Given the description of an element on the screen output the (x, y) to click on. 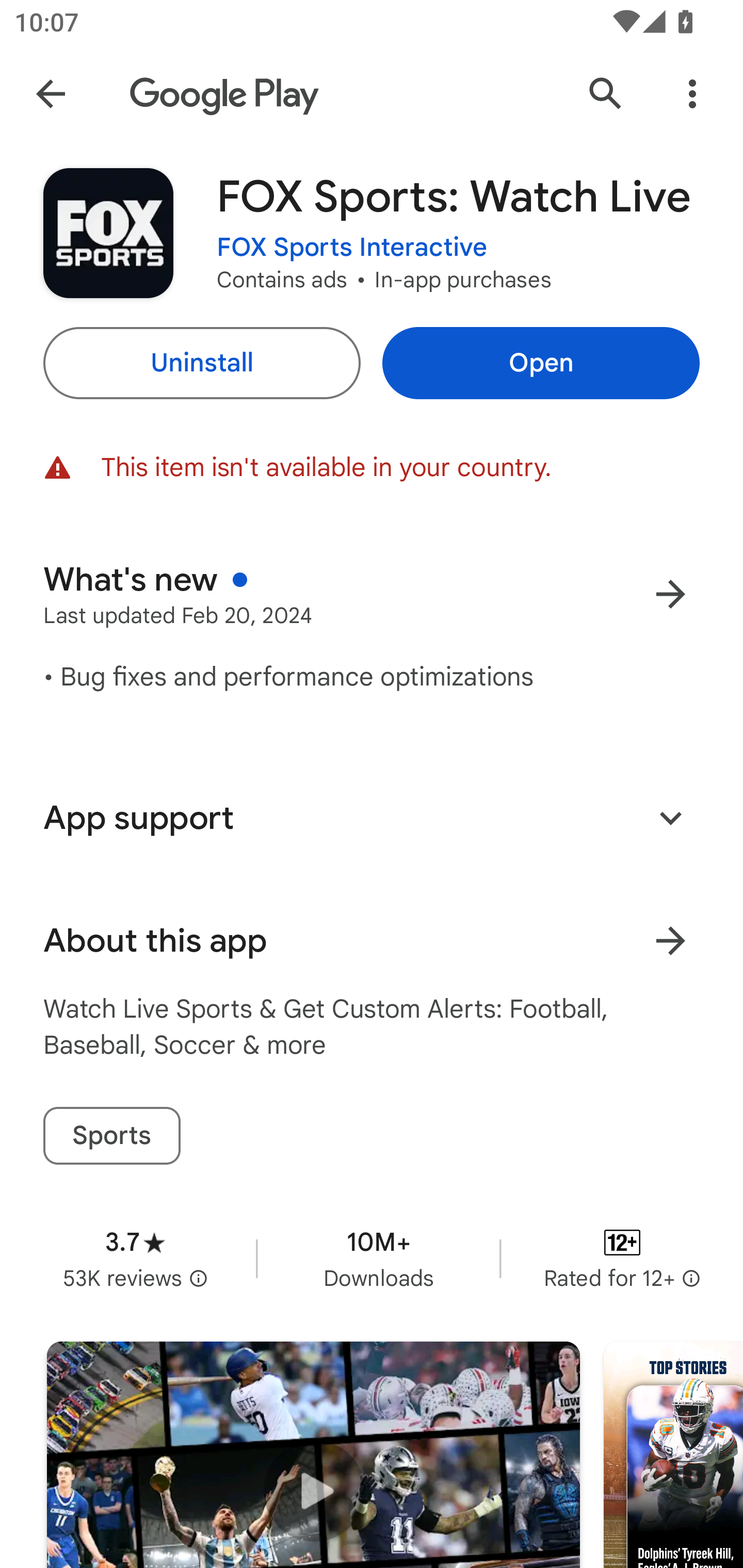
Navigate up (50, 93)
Search Google Play (605, 93)
More Options (692, 93)
FOX Sports Interactive (351, 247)
Uninstall (201, 362)
Open (540, 362)
More results for What's new (670, 594)
App support Expand (371, 817)
Expand (670, 817)
About this app Learn more About this app (371, 940)
Learn more About this app (670, 940)
Sports tag (111, 1135)
Average rating 3.7 stars in 53 thousand reviews (135, 1258)
Content rating Rated for 12+ (622, 1258)
Play trailer for "FOX Sports: Watch Live" (313, 1455)
